Given the description of an element on the screen output the (x, y) to click on. 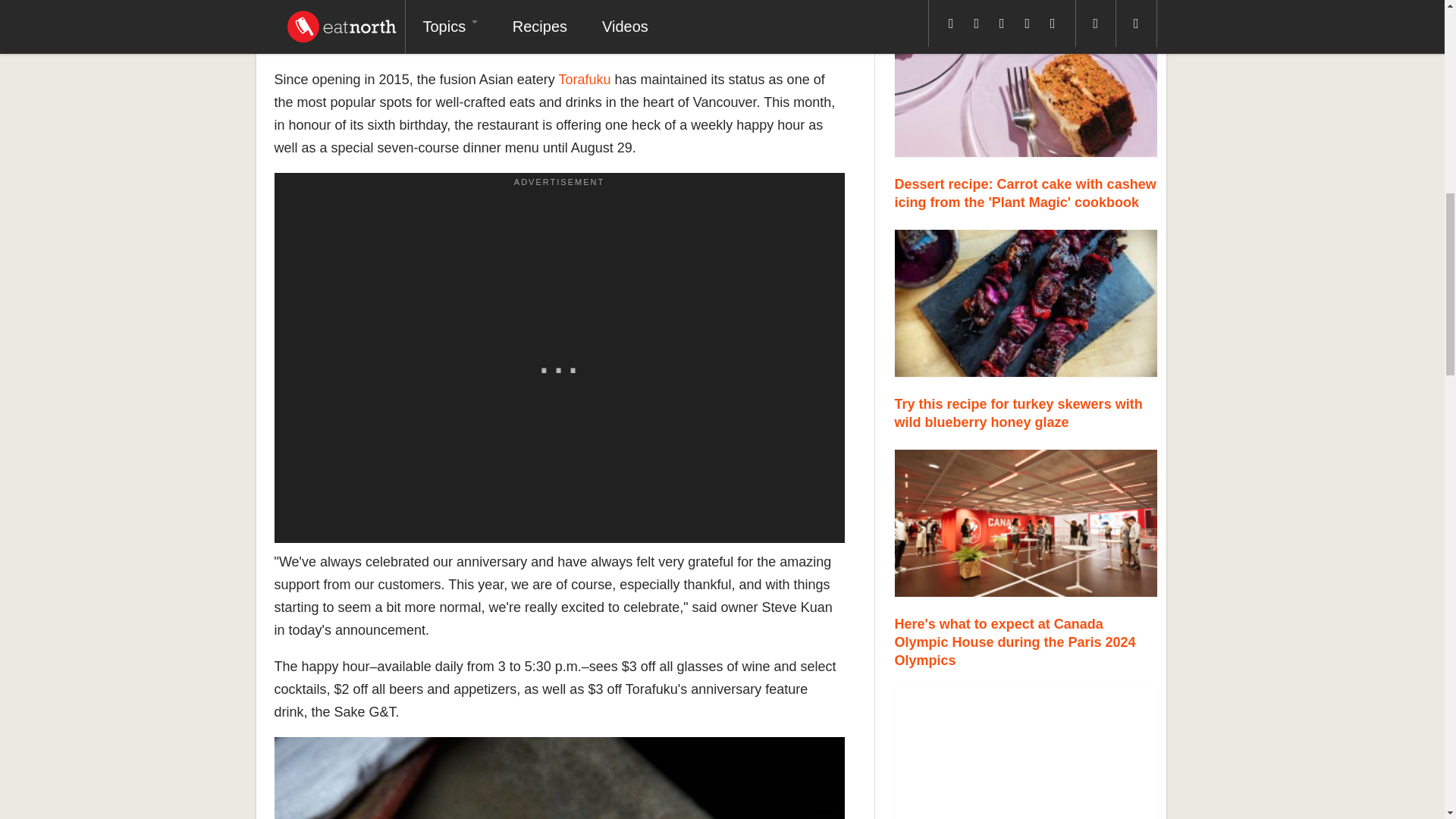
Torafuku (583, 79)
